Given the description of an element on the screen output the (x, y) to click on. 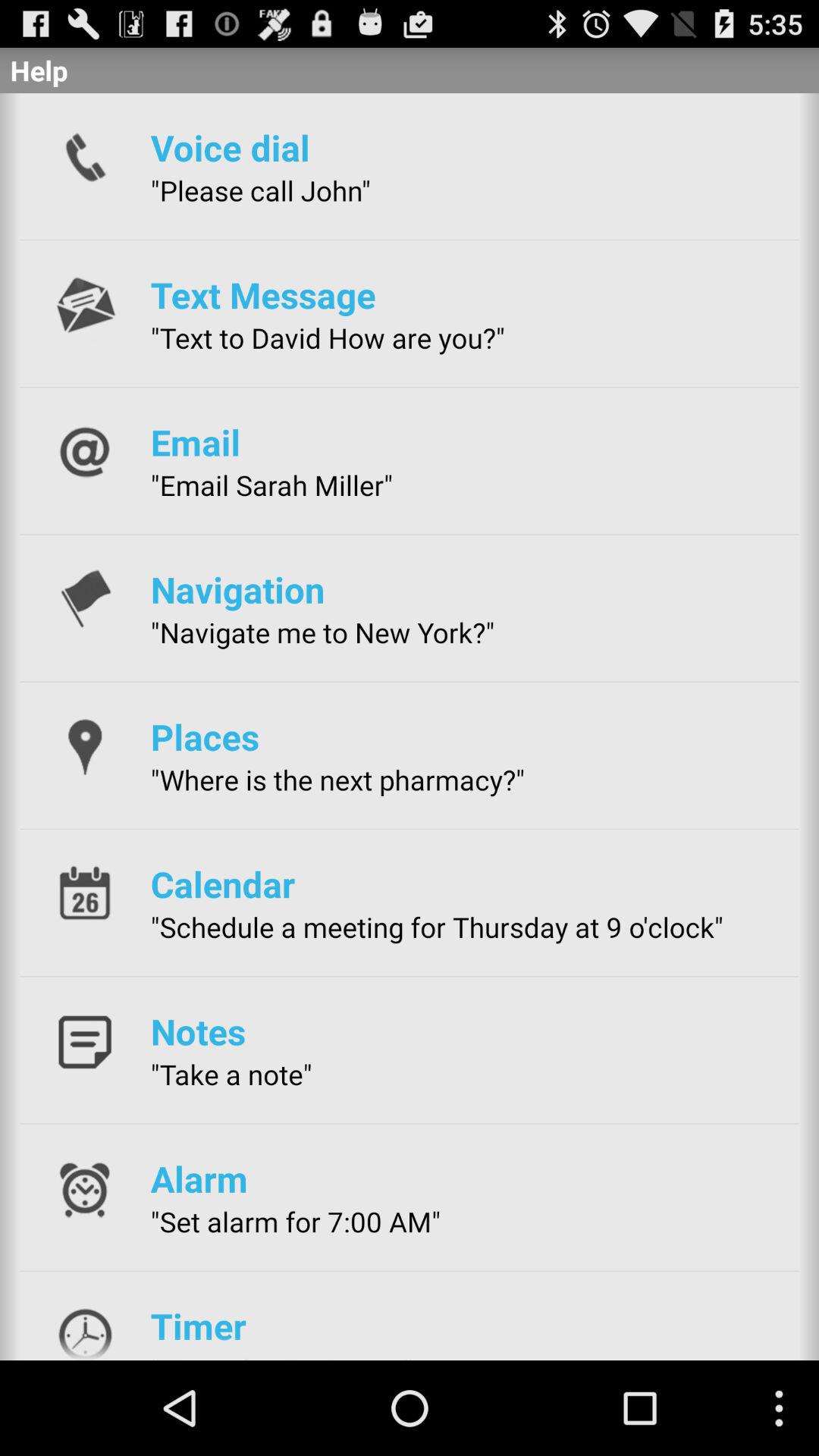
click navigate me to (322, 632)
